Given the description of an element on the screen output the (x, y) to click on. 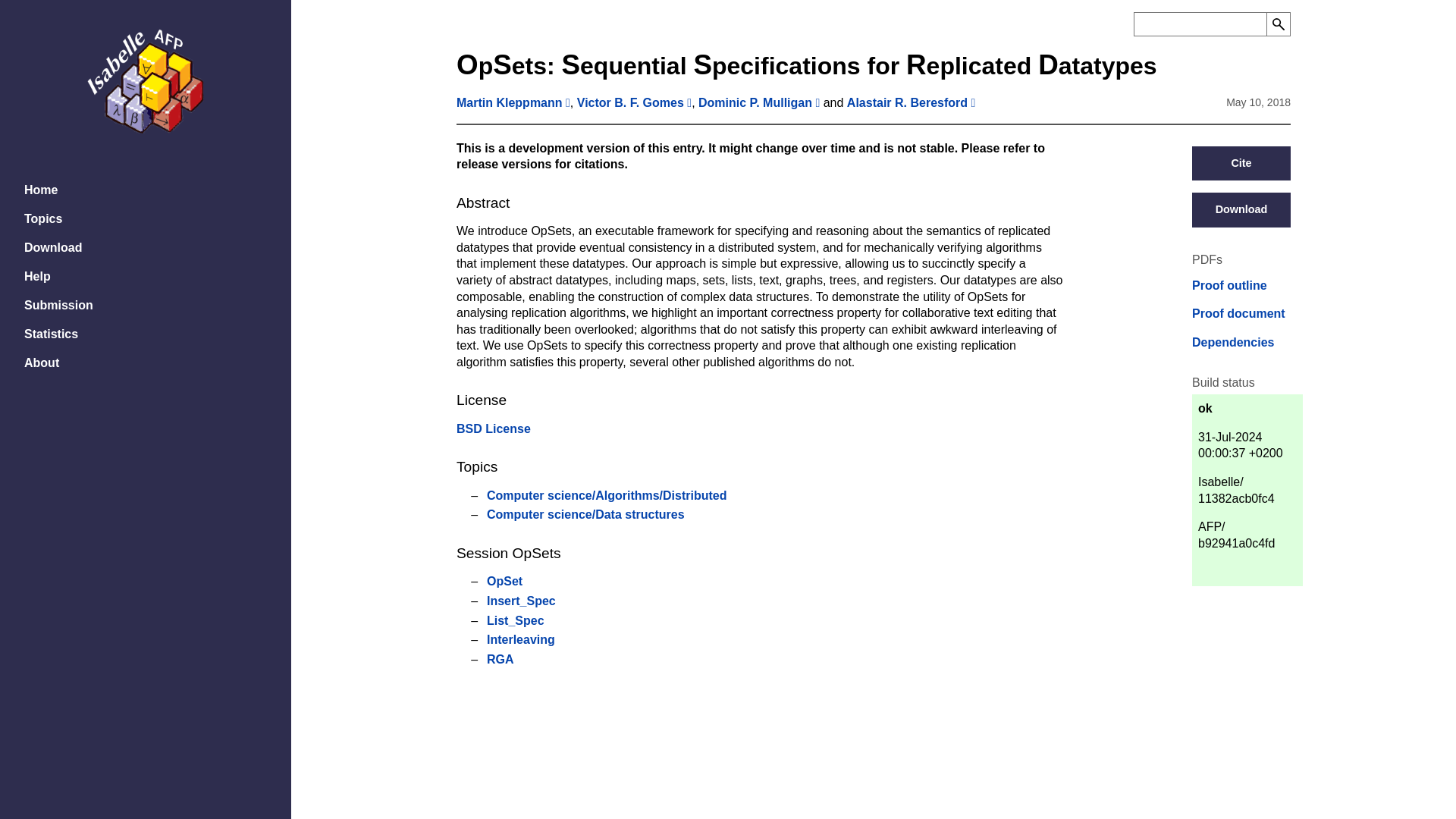
Submission (145, 305)
Statistics (145, 334)
Help (145, 276)
OpSet (504, 581)
About (145, 362)
Proof outline (1229, 285)
Download (1241, 209)
Dominic P. Mulligan (755, 102)
Interleaving (520, 639)
Cite (1241, 163)
Download (145, 248)
Topics (145, 218)
Dependencies (1233, 342)
RGA (499, 658)
Proof document (1238, 313)
